Given the description of an element on the screen output the (x, y) to click on. 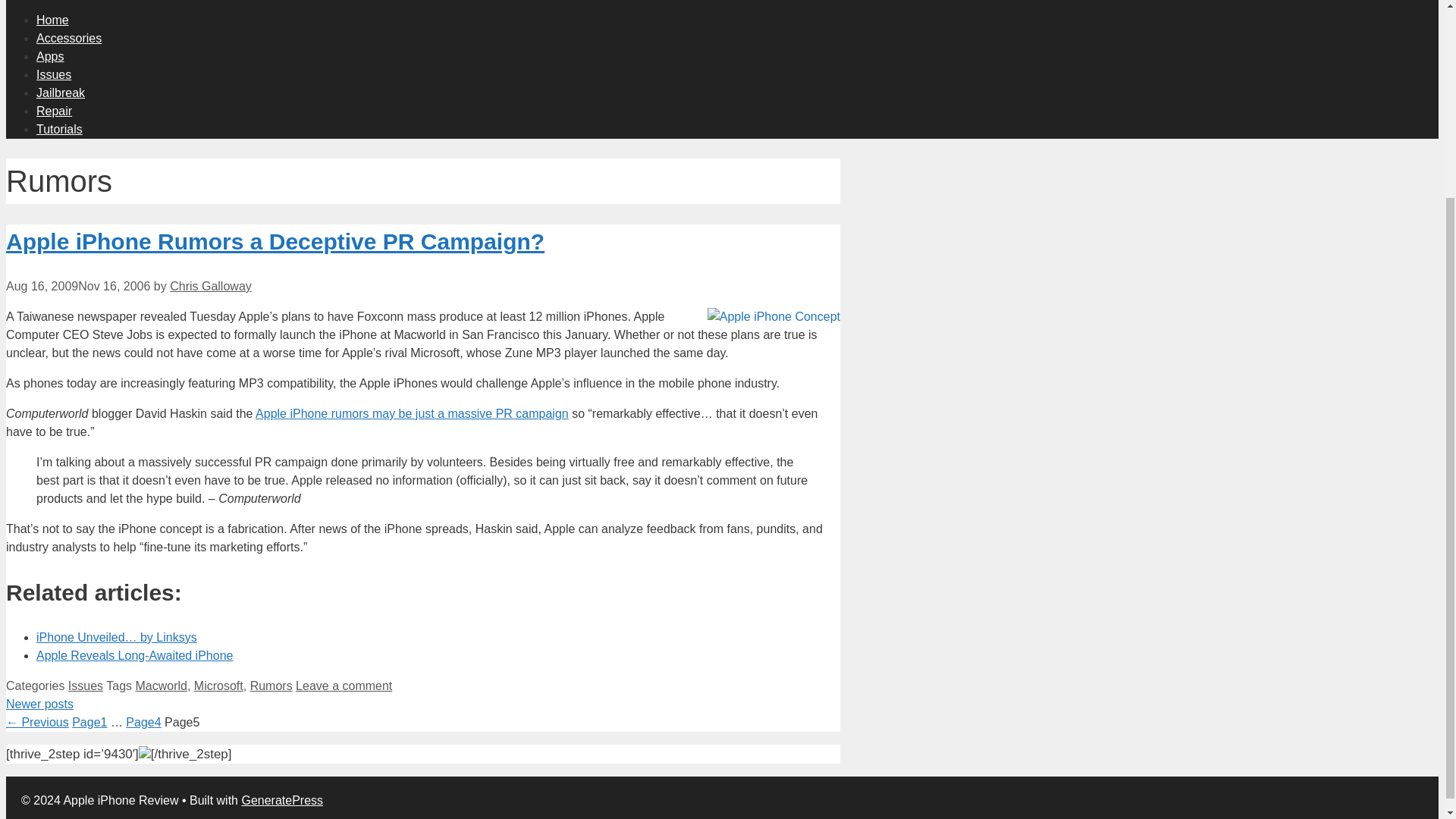
Apple Reveals Long-Awaited iPhone (134, 655)
Leave a comment (343, 685)
Next (39, 703)
Jailbreak (60, 91)
Issues (53, 73)
Newer posts (39, 703)
Chris Galloway (210, 286)
Apple iPhone rumors may be just a massive PR campaign (412, 413)
Tutorials (59, 128)
GeneratePress (282, 799)
Issues (85, 685)
Page1 (88, 721)
Home (52, 19)
Apps (50, 55)
View all posts by Chris Galloway (210, 286)
